Given the description of an element on the screen output the (x, y) to click on. 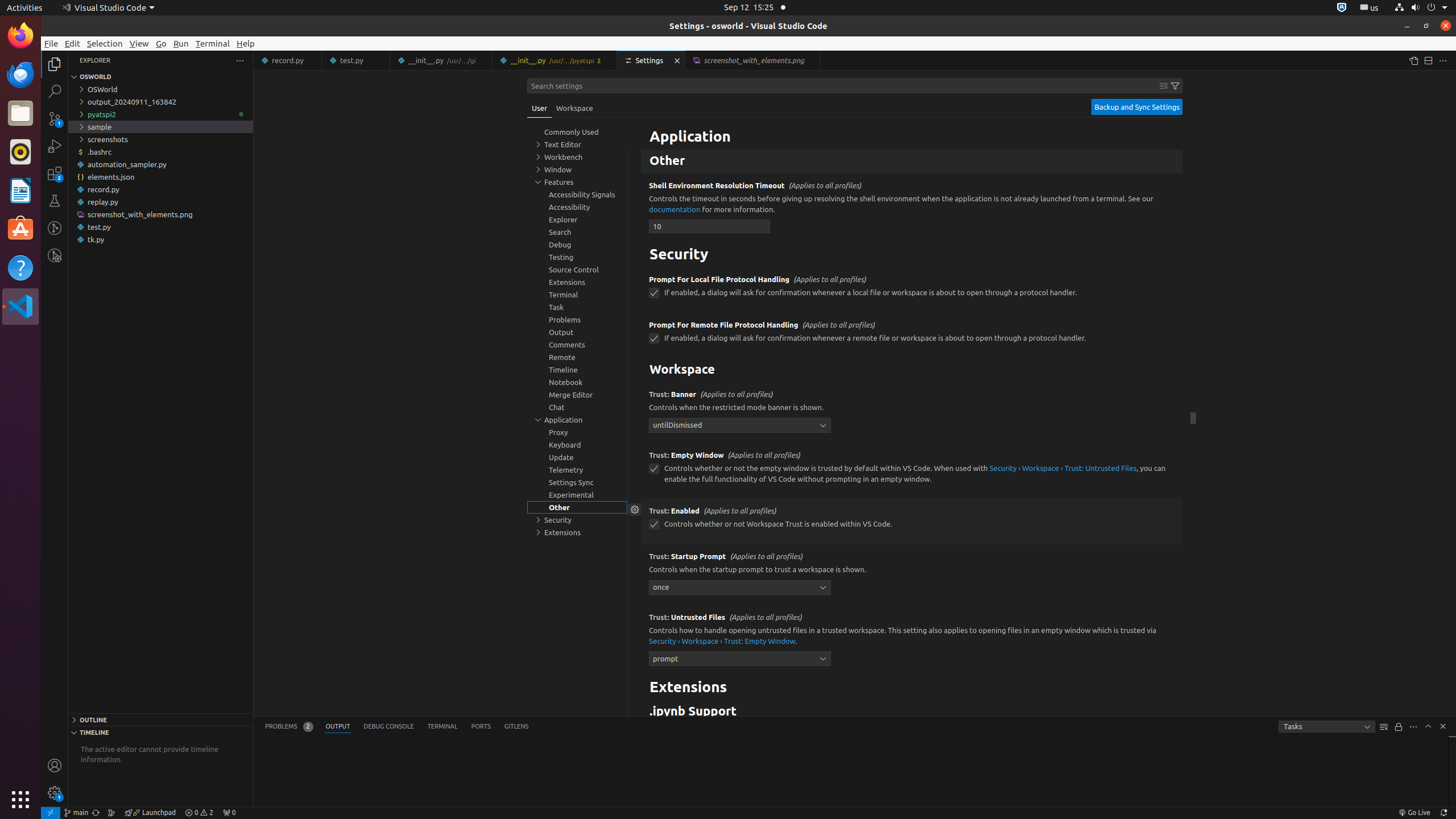
Other, group Element type: tree-item (577, 507)
Explorer, group Element type: tree-item (577, 219)
Debug, group Element type: tree-item (577, 244)
Output (Ctrl+K Ctrl+H) Element type: page-tab (337, 726)
